Given the description of an element on the screen output the (x, y) to click on. 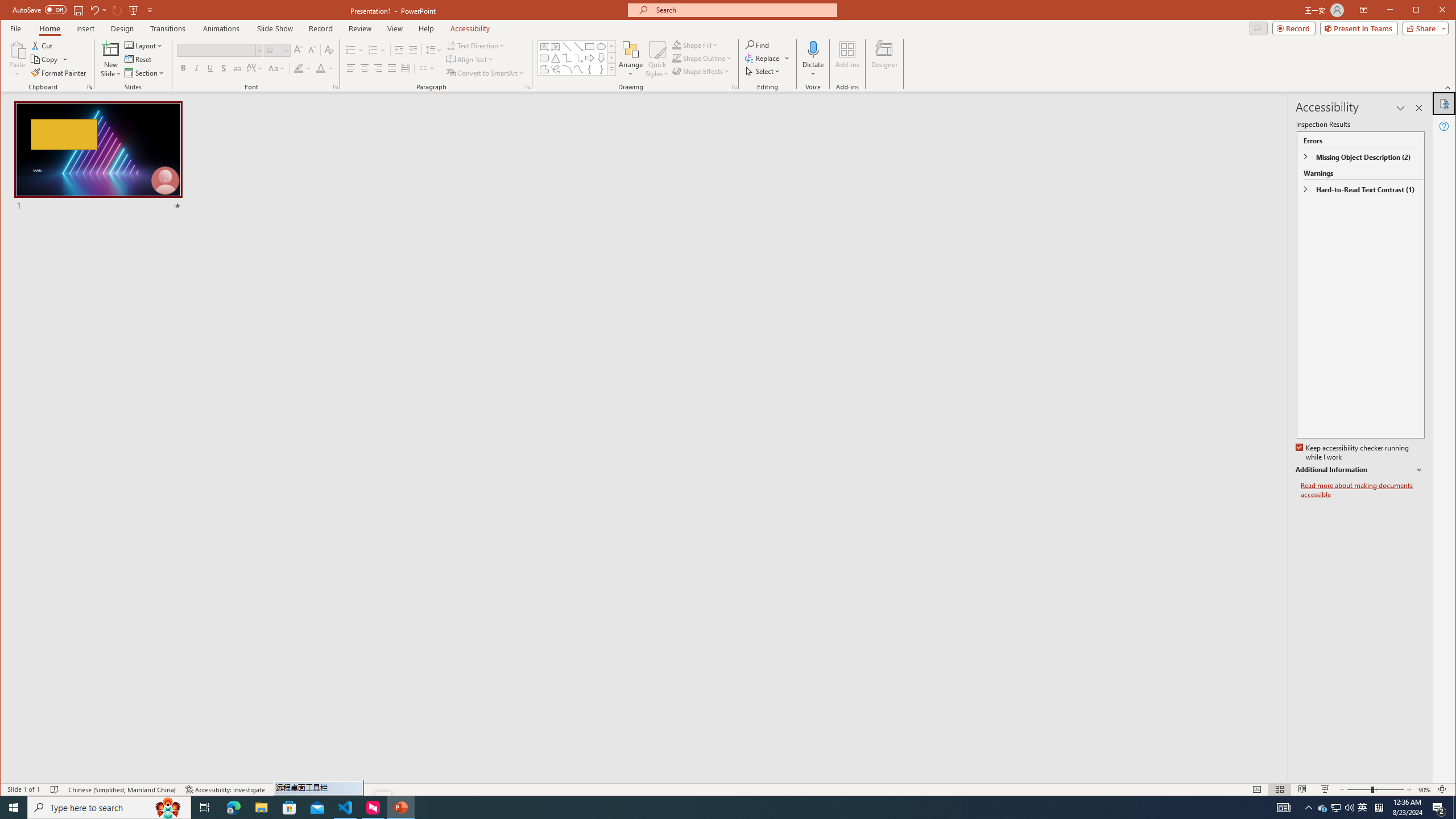
Align Right (377, 68)
Paste (17, 59)
Start (13, 807)
Font Color Red (320, 68)
Text Direction (476, 45)
Format Painter (59, 72)
Replace... (768, 57)
Replace... (763, 57)
Rectangle (589, 46)
From Beginning (133, 9)
Office Clipboard... (89, 86)
Slide Show (274, 28)
Close (1444, 11)
Microsoft Store (289, 807)
